Given the description of an element on the screen output the (x, y) to click on. 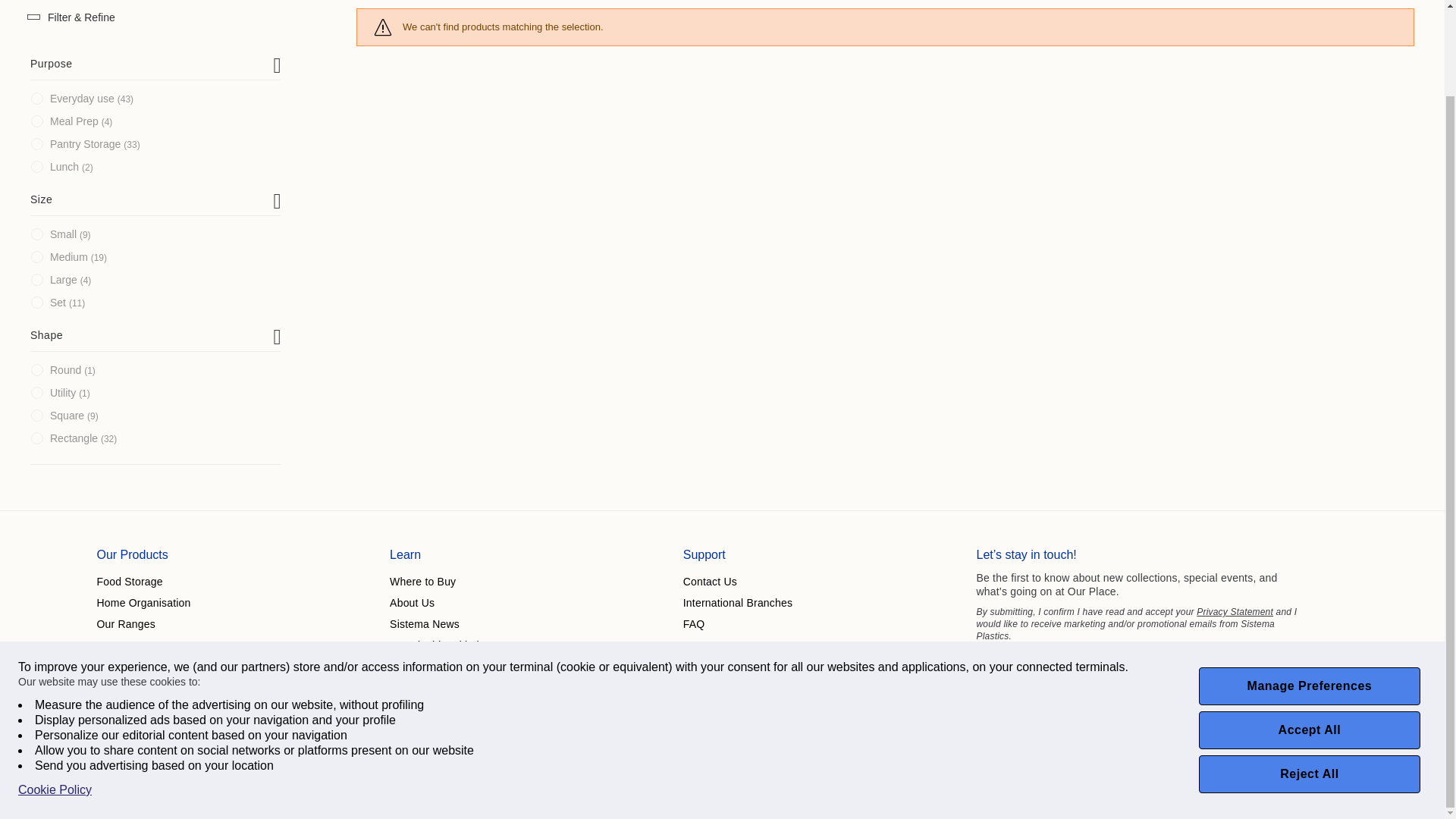
Manage Preferences (1309, 588)
